Given the description of an element on the screen output the (x, y) to click on. 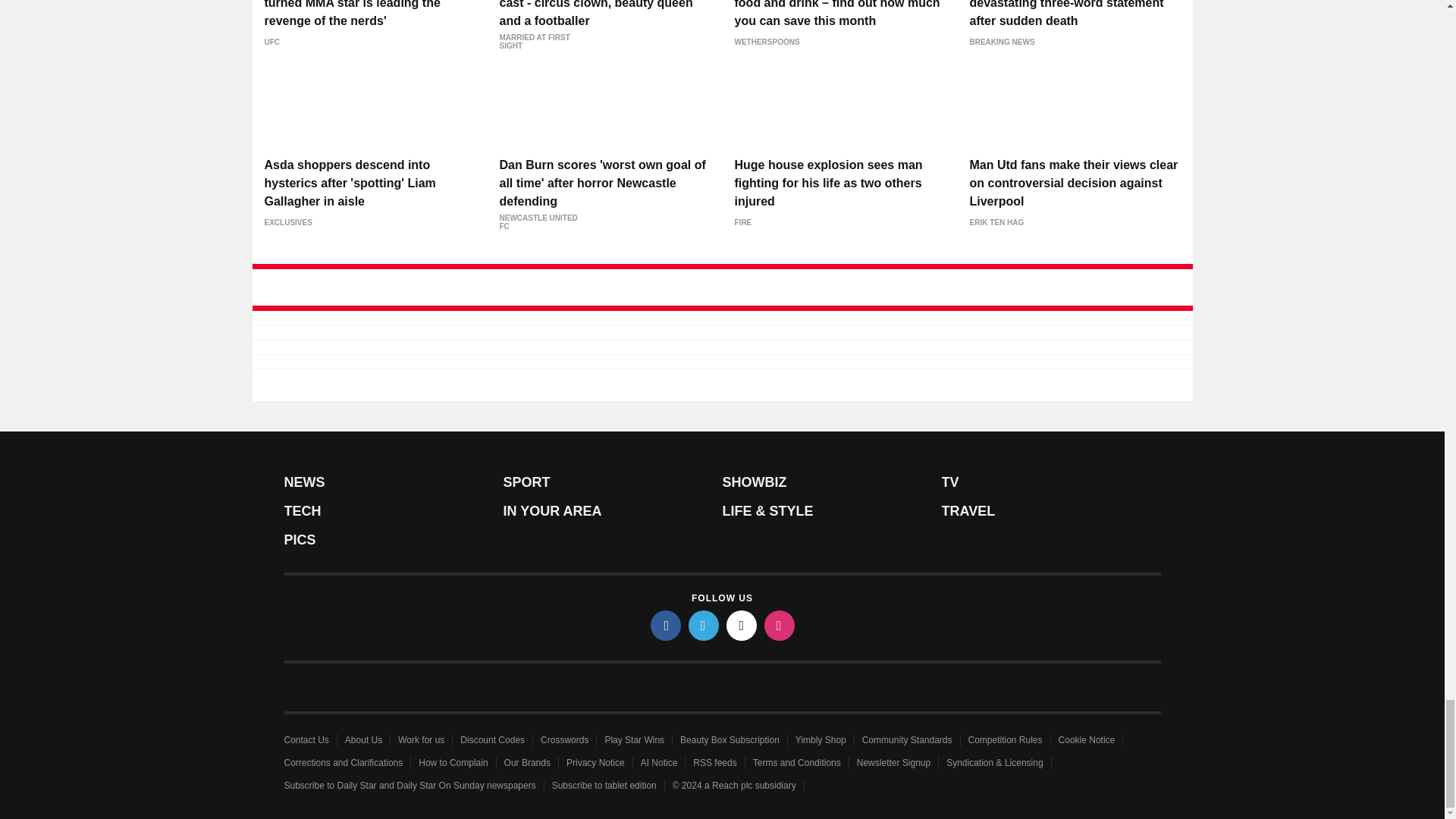
instagram (779, 625)
facebook (665, 625)
tiktok (741, 625)
twitter (703, 625)
